Given the description of an element on the screen output the (x, y) to click on. 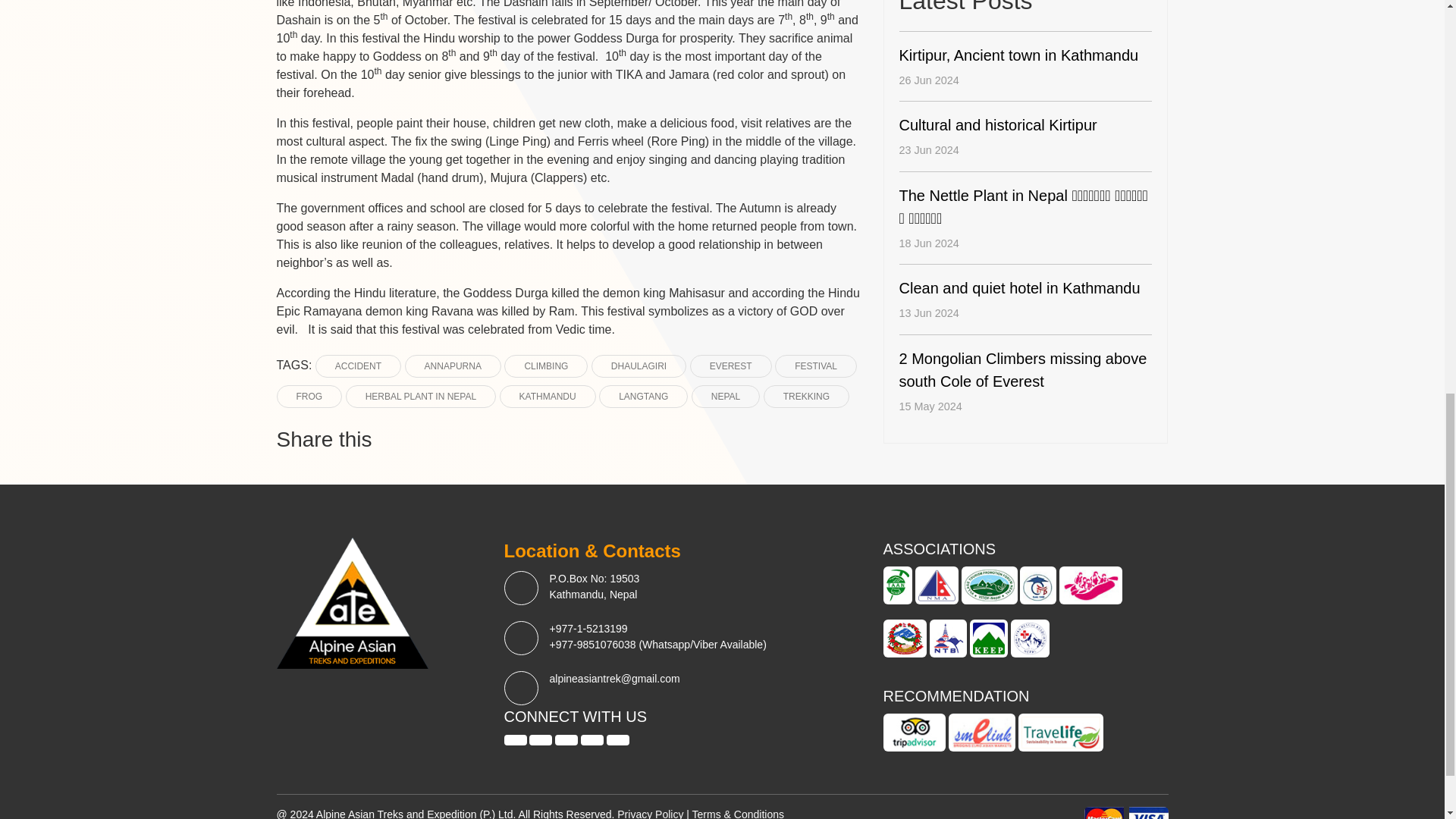
Accident Tag (358, 365)
frog Tag (309, 395)
herbal plant in Nepal Tag (421, 395)
Dhaulagiri Tag (638, 365)
nepal Tag (725, 395)
Annapurna Tag (452, 365)
Langtang Tag (642, 395)
Everest Tag (730, 365)
Climbing Tag (545, 365)
kathmandu Tag (547, 395)
trekking Tag (805, 395)
festival Tag (815, 365)
